Given the description of an element on the screen output the (x, y) to click on. 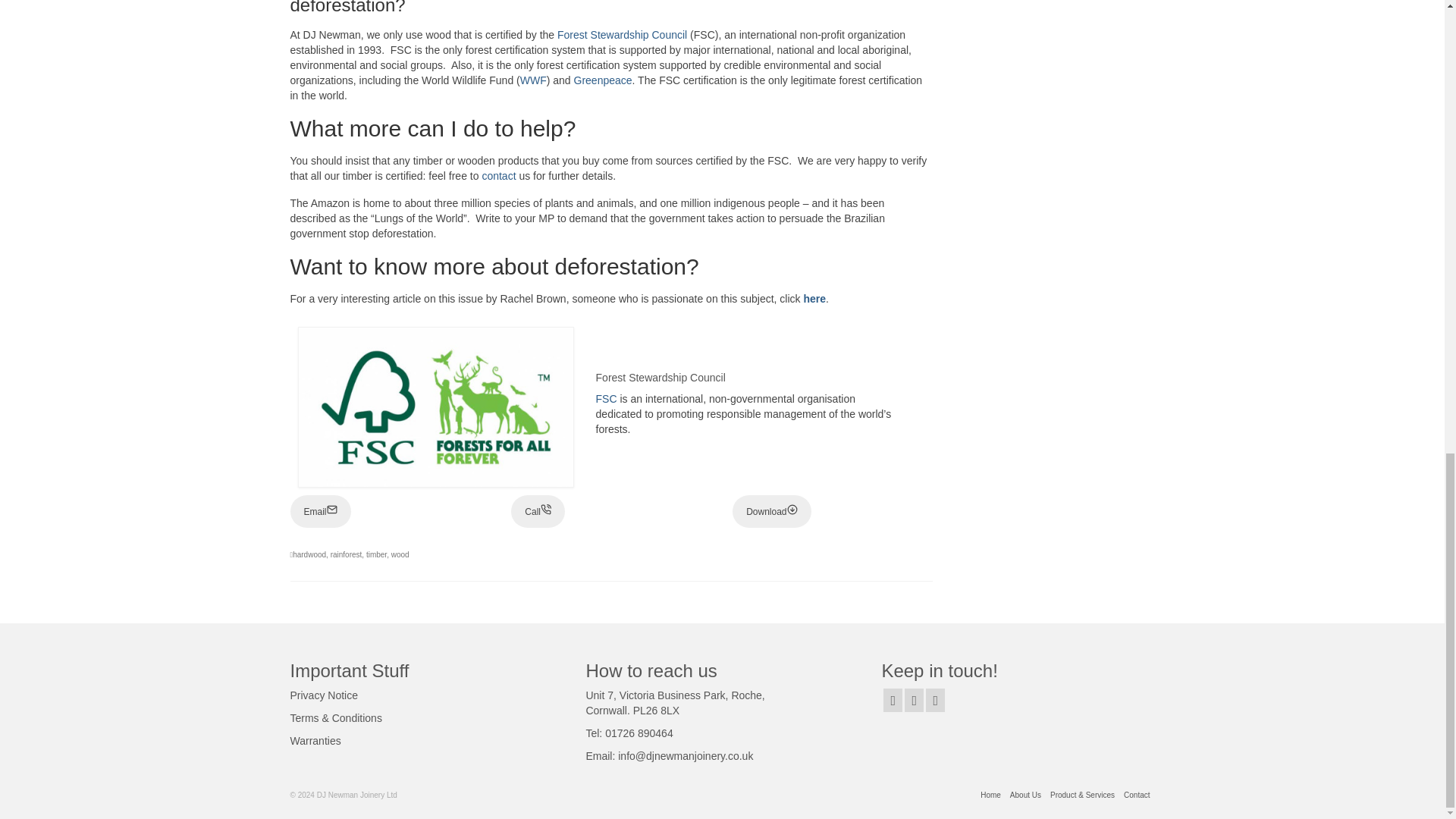
FSC (606, 398)
Forest Stewardship Council (622, 34)
here (814, 298)
Greenpeace (602, 80)
contact (498, 175)
WWF (533, 80)
